Given the description of an element on the screen output the (x, y) to click on. 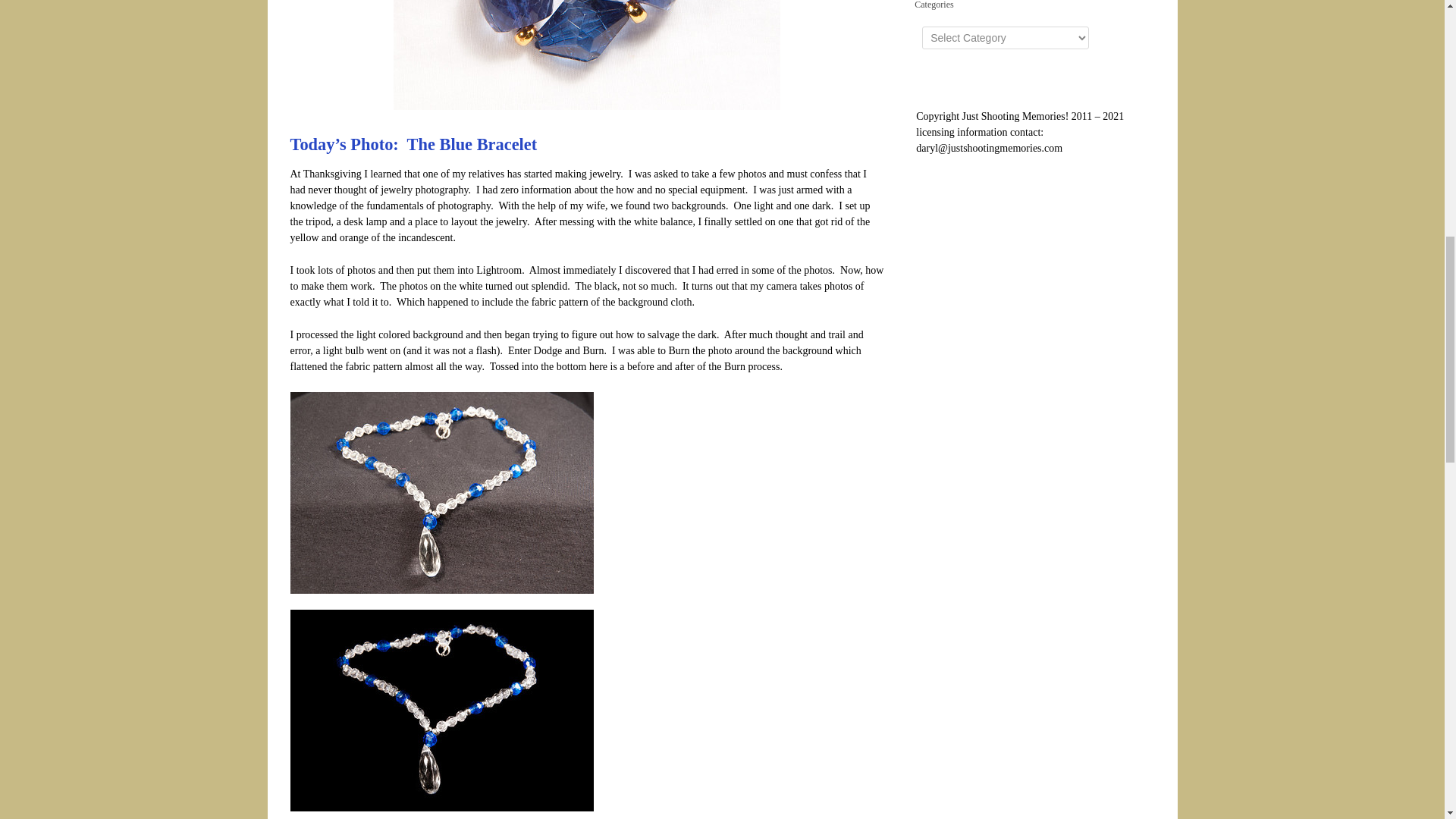
After (440, 708)
Before (440, 492)
The Blue Bracelet (586, 54)
After (440, 710)
